Given the description of an element on the screen output the (x, y) to click on. 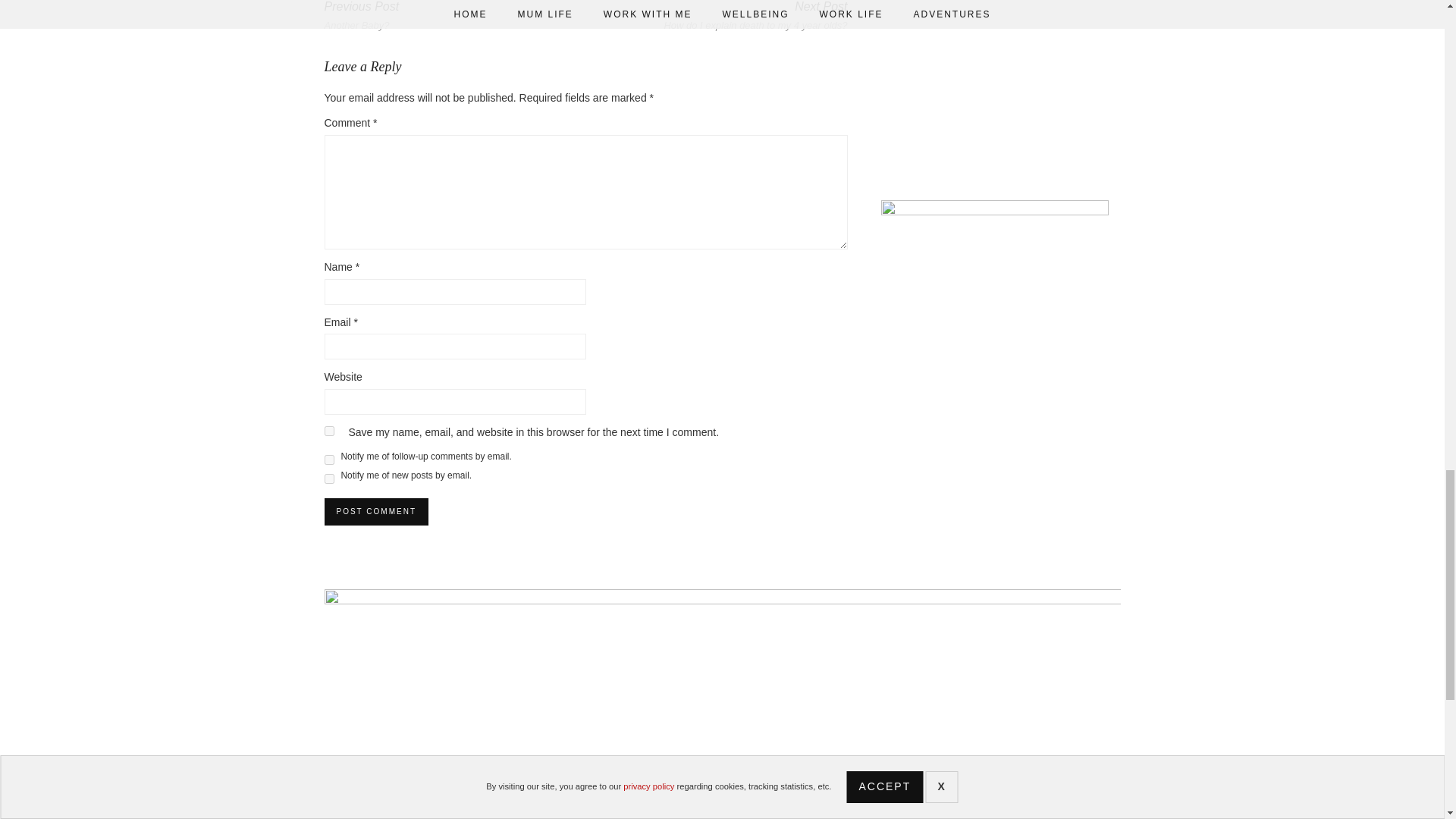
subscribe (329, 460)
yes (329, 430)
subscribe (329, 479)
Post Comment (376, 511)
